Given the description of an element on the screen output the (x, y) to click on. 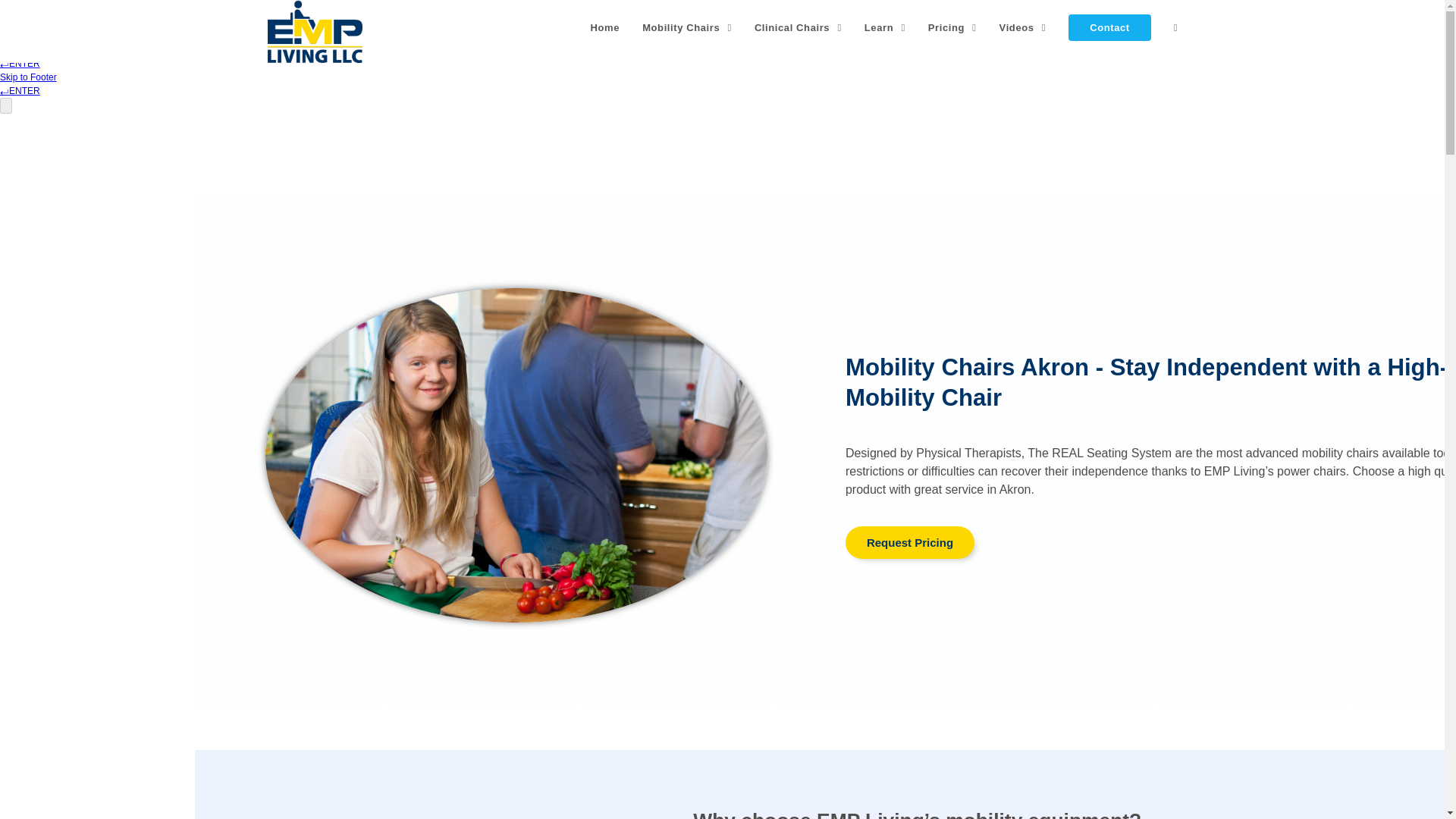
Mobility Chairs (686, 28)
Home (605, 28)
Learn (885, 28)
Clinical Chairs (797, 28)
Contact (1109, 28)
Pricing (952, 28)
Videos (1023, 28)
